Given the description of an element on the screen output the (x, y) to click on. 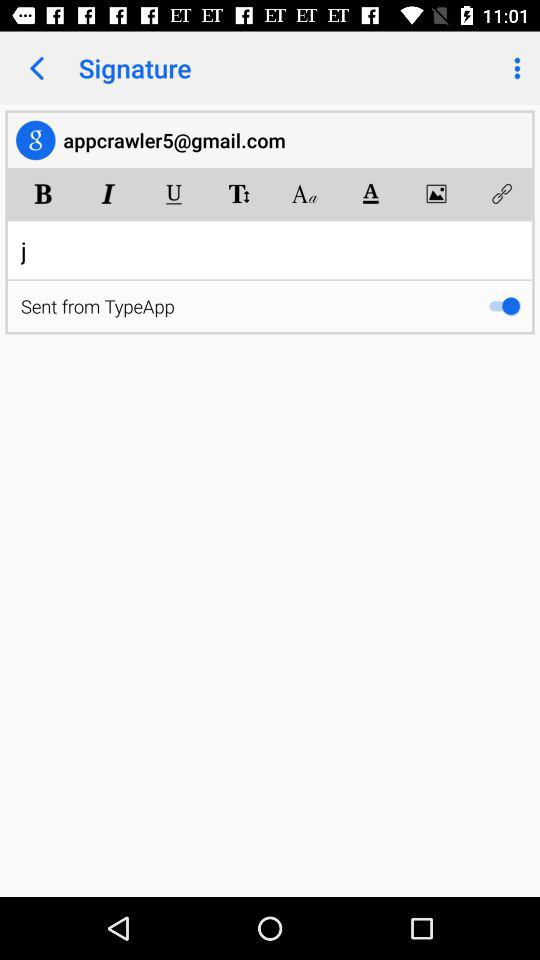
launch icon above the j icon (43, 193)
